Given the description of an element on the screen output the (x, y) to click on. 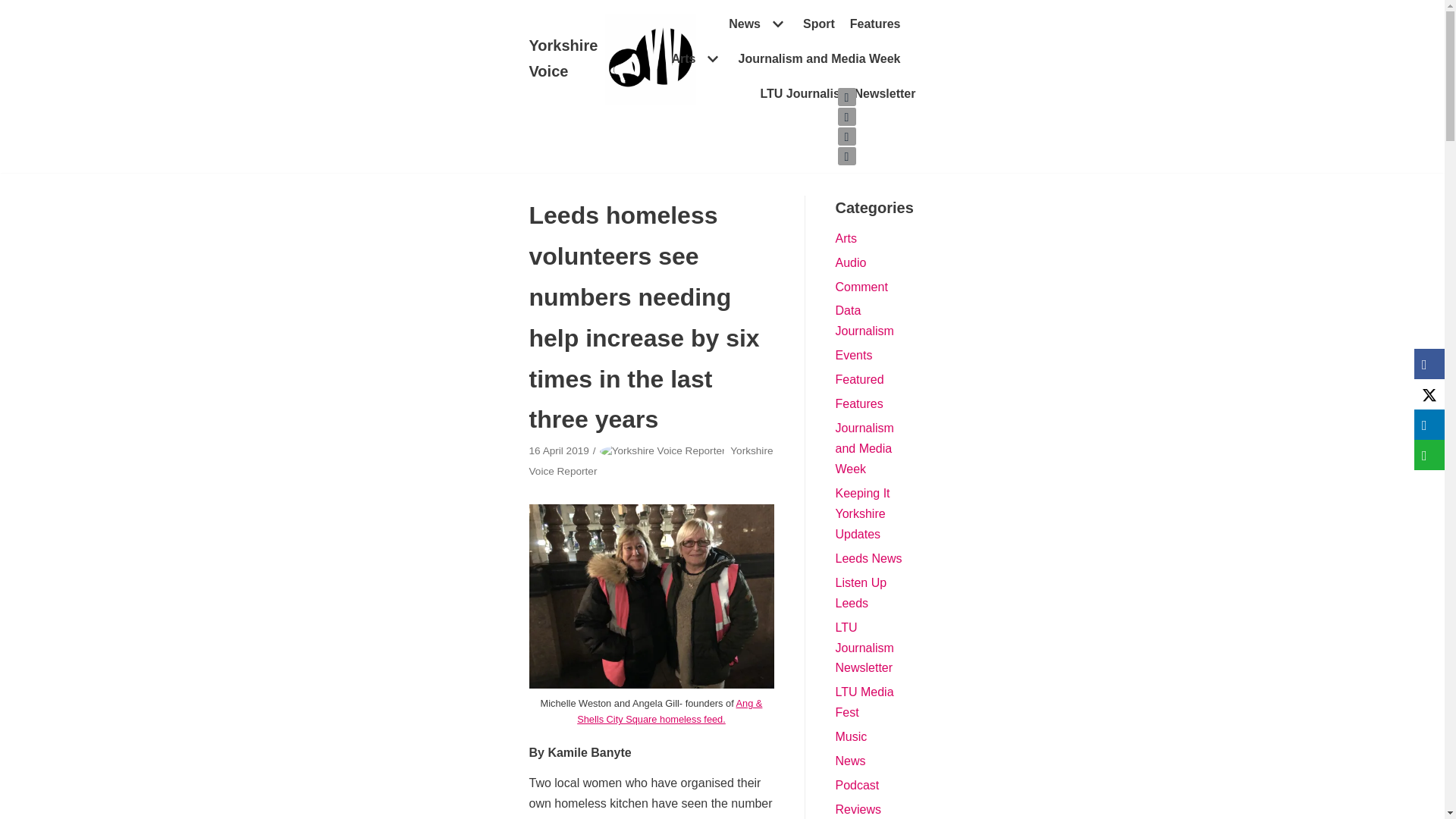
Yorkshire Voice (613, 58)
Journalism and Media Week (818, 58)
LTU Journalism Newsletter (837, 94)
Facebook (846, 116)
Sport (818, 24)
Instagram (846, 136)
Arts (696, 58)
YouTube (846, 156)
Yorkshire Voice Reporter (651, 460)
Yorkshire Voice (613, 58)
Twitter (846, 96)
News (758, 24)
Skip to content (15, 7)
Features (875, 24)
